Given the description of an element on the screen output the (x, y) to click on. 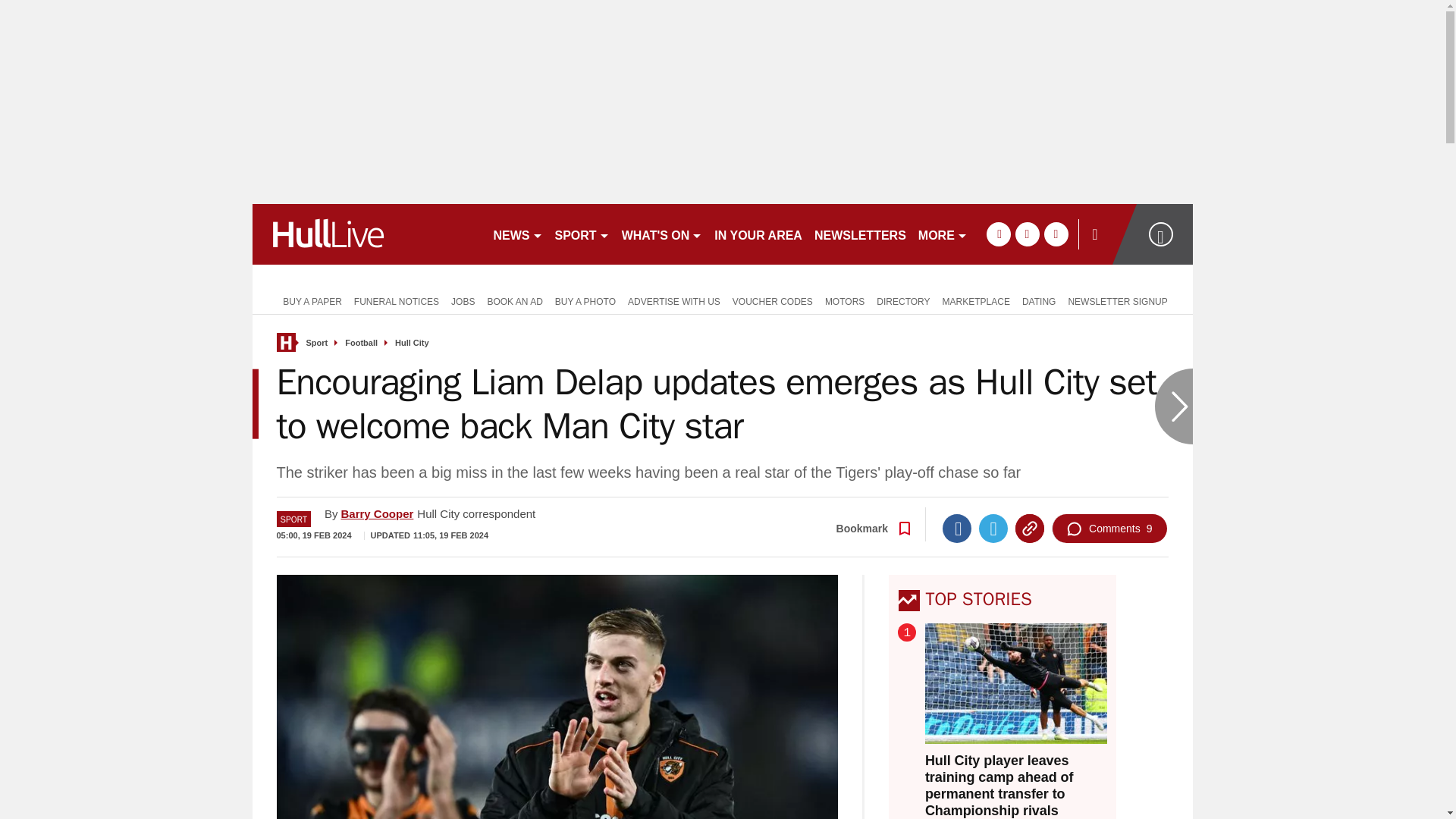
facebook (997, 233)
twitter (1026, 233)
Comments (1108, 528)
SPORT (581, 233)
NEWS (517, 233)
hulldailymail (365, 233)
instagram (1055, 233)
NEWSLETTERS (860, 233)
WHAT'S ON (662, 233)
MORE (943, 233)
Twitter (992, 528)
Facebook (956, 528)
IN YOUR AREA (757, 233)
